Given the description of an element on the screen output the (x, y) to click on. 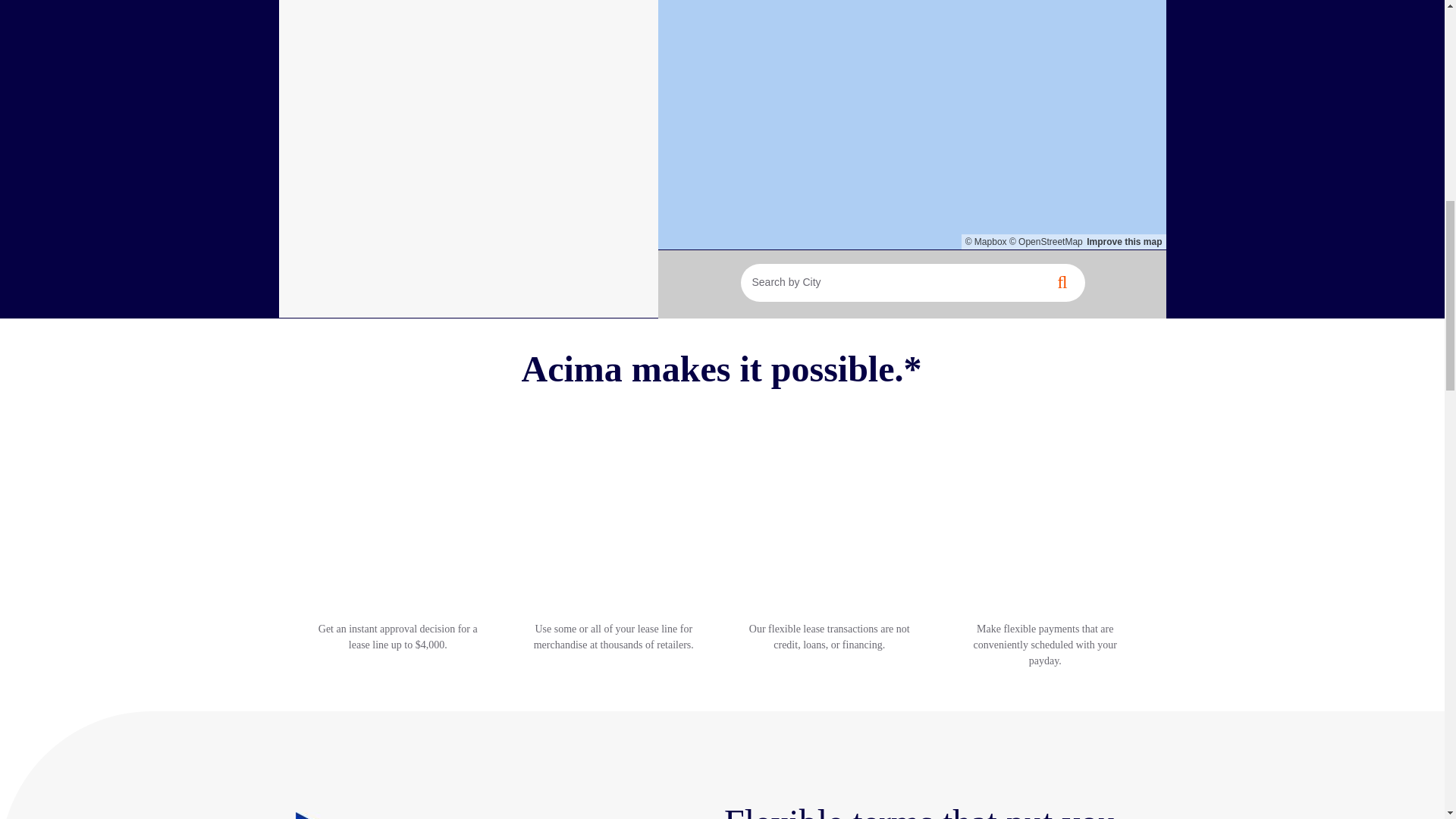
OpenStreetMap (1046, 241)
Mapbox (986, 241)
